Given the description of an element on the screen output the (x, y) to click on. 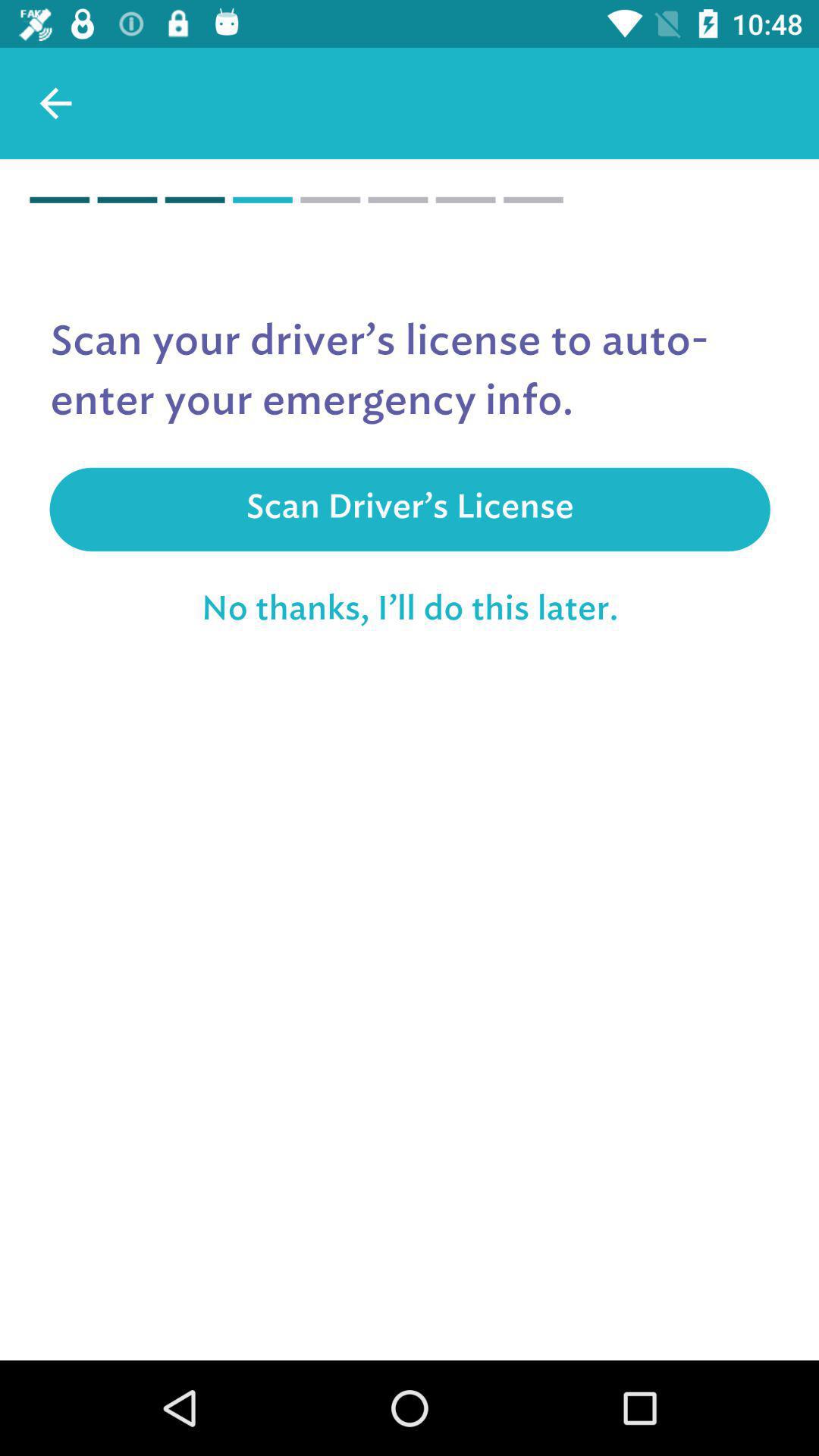
go back (55, 103)
